Given the description of an element on the screen output the (x, y) to click on. 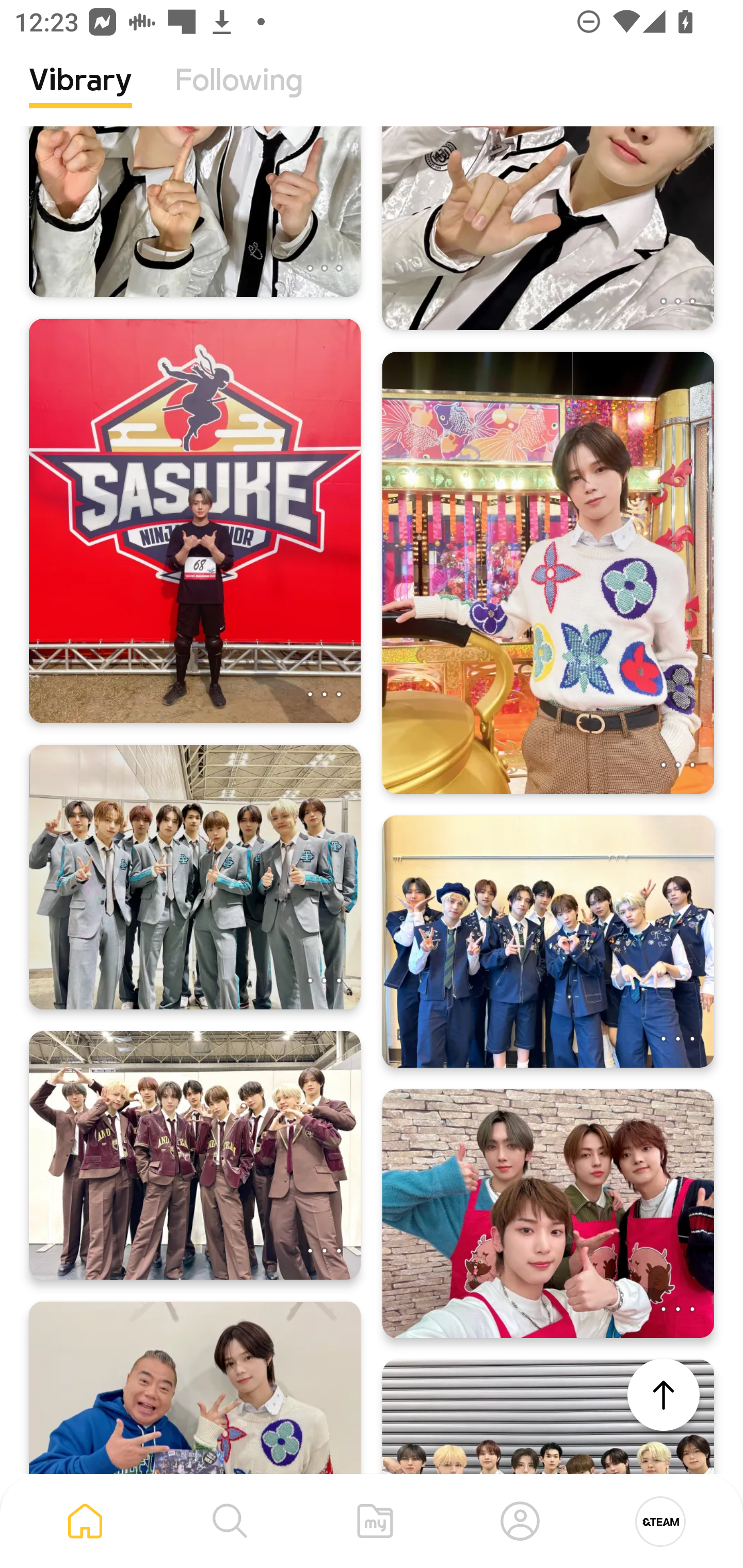
Vibrary (80, 95)
Following (239, 95)
